Given the description of an element on the screen output the (x, y) to click on. 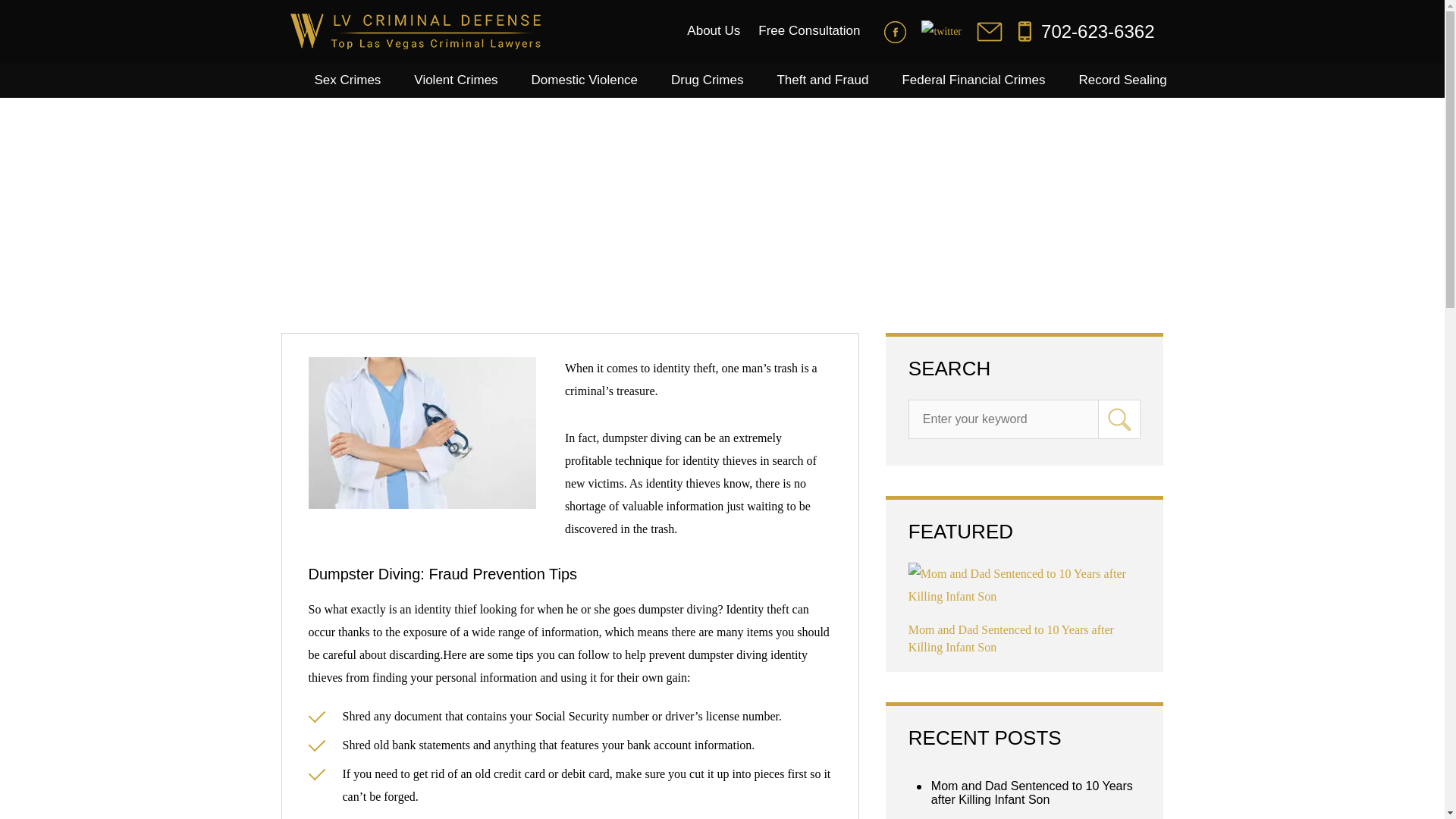
Drug Crimes (707, 80)
Free Consultation (809, 30)
About Us (713, 30)
Domestic Violence (584, 80)
Go to the Blog category archives. (361, 247)
Go to LV Criminal Defense. (309, 247)
Violent Crimes (455, 80)
Sex Crimes (347, 80)
702-623-6362 (1085, 31)
Theft and Fraud (822, 80)
